Given the description of an element on the screen output the (x, y) to click on. 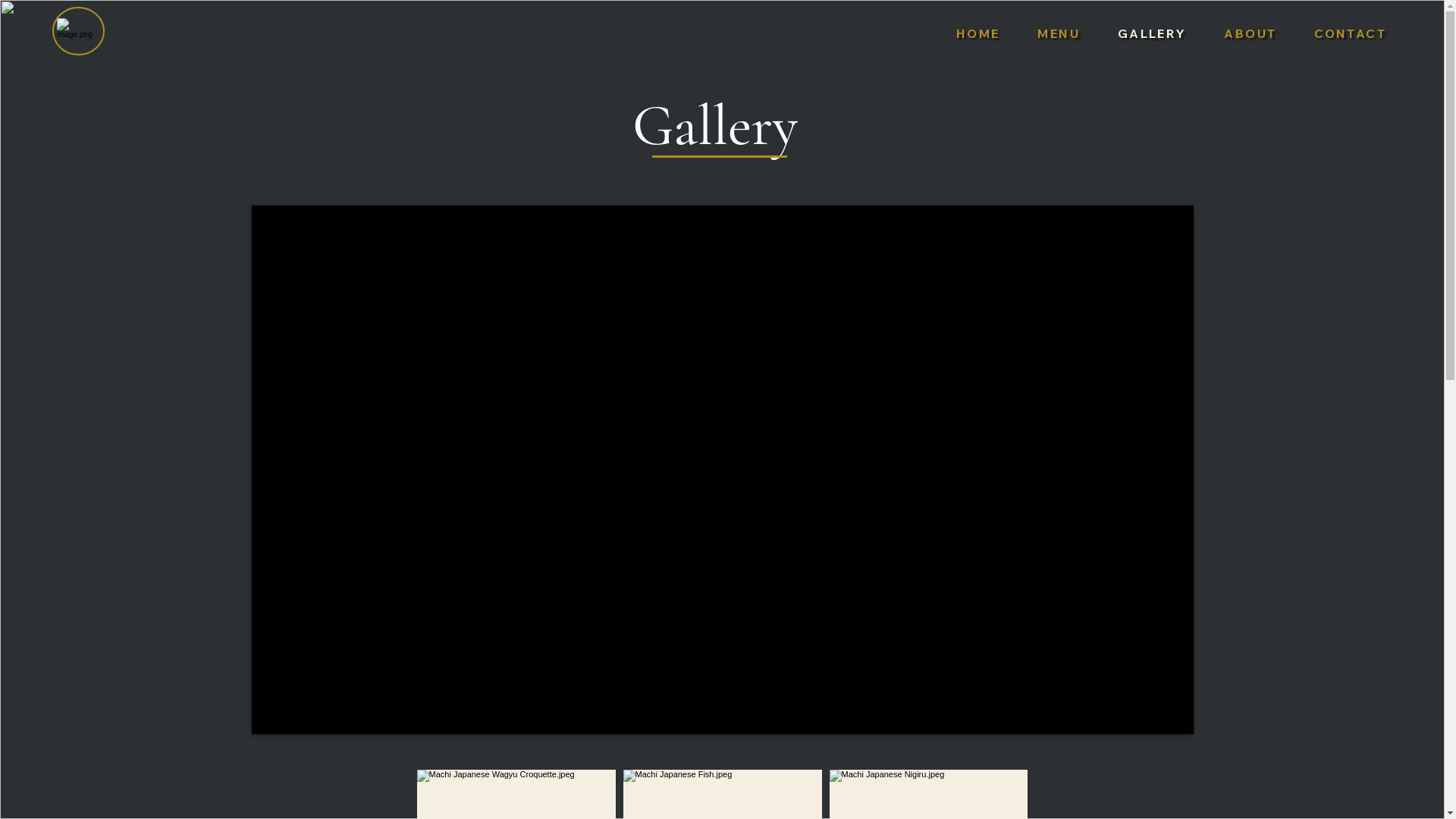
GALLERY Element type: text (1151, 33)
logo.png Element type: hover (78, 30)
MENU Element type: text (1058, 33)
ABOUT Element type: text (1250, 33)
CONTACT Element type: text (1350, 33)
HOME Element type: text (977, 33)
